Given the description of an element on the screen output the (x, y) to click on. 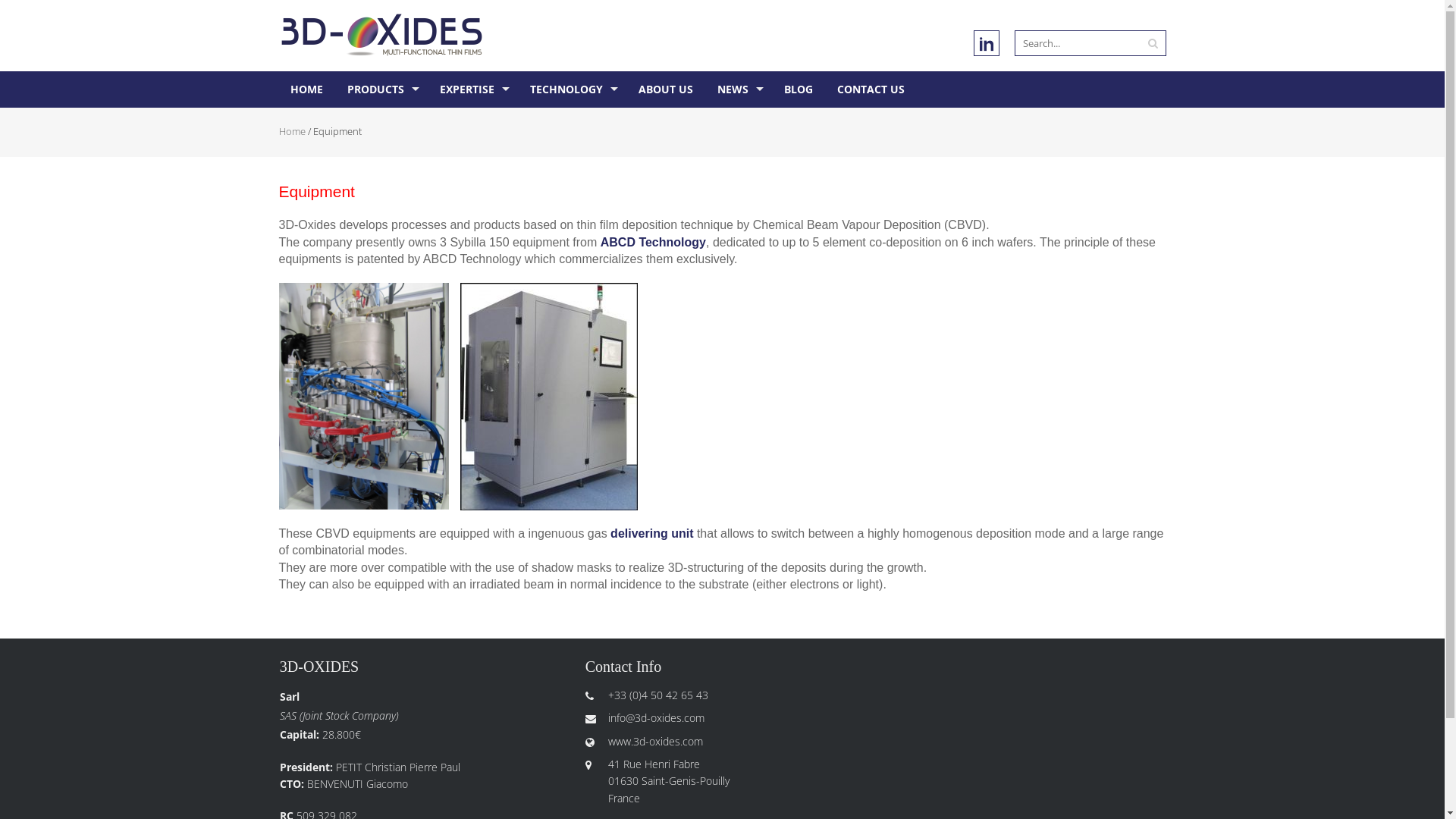
PRODUCTS Element type: text (380, 89)
Home Element type: text (292, 131)
delivering unit Element type: text (651, 533)
CONTACT US Element type: text (870, 89)
ABCD Technology Element type: text (653, 241)
NEWS Element type: text (737, 89)
HOME Element type: text (306, 89)
EXPERTISE Element type: text (471, 89)
ABOUT US Element type: text (664, 89)
TECHNOLOGY Element type: text (571, 89)
BLOG Element type: text (797, 89)
